Given the description of an element on the screen output the (x, y) to click on. 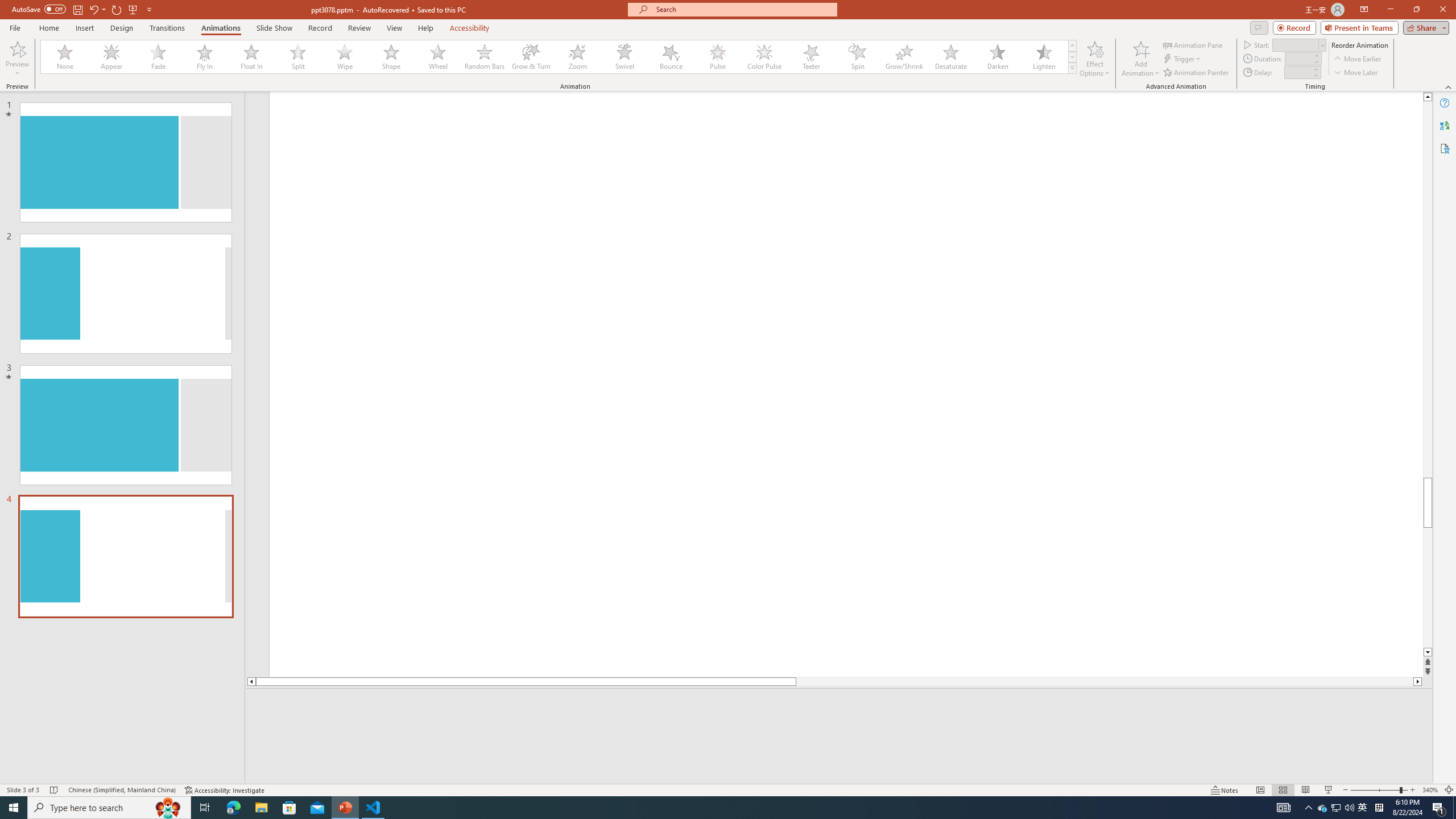
Animation Delay (1297, 72)
Animation Duration (1298, 58)
Less (1315, 75)
Lighten (1043, 56)
